Given the description of an element on the screen output the (x, y) to click on. 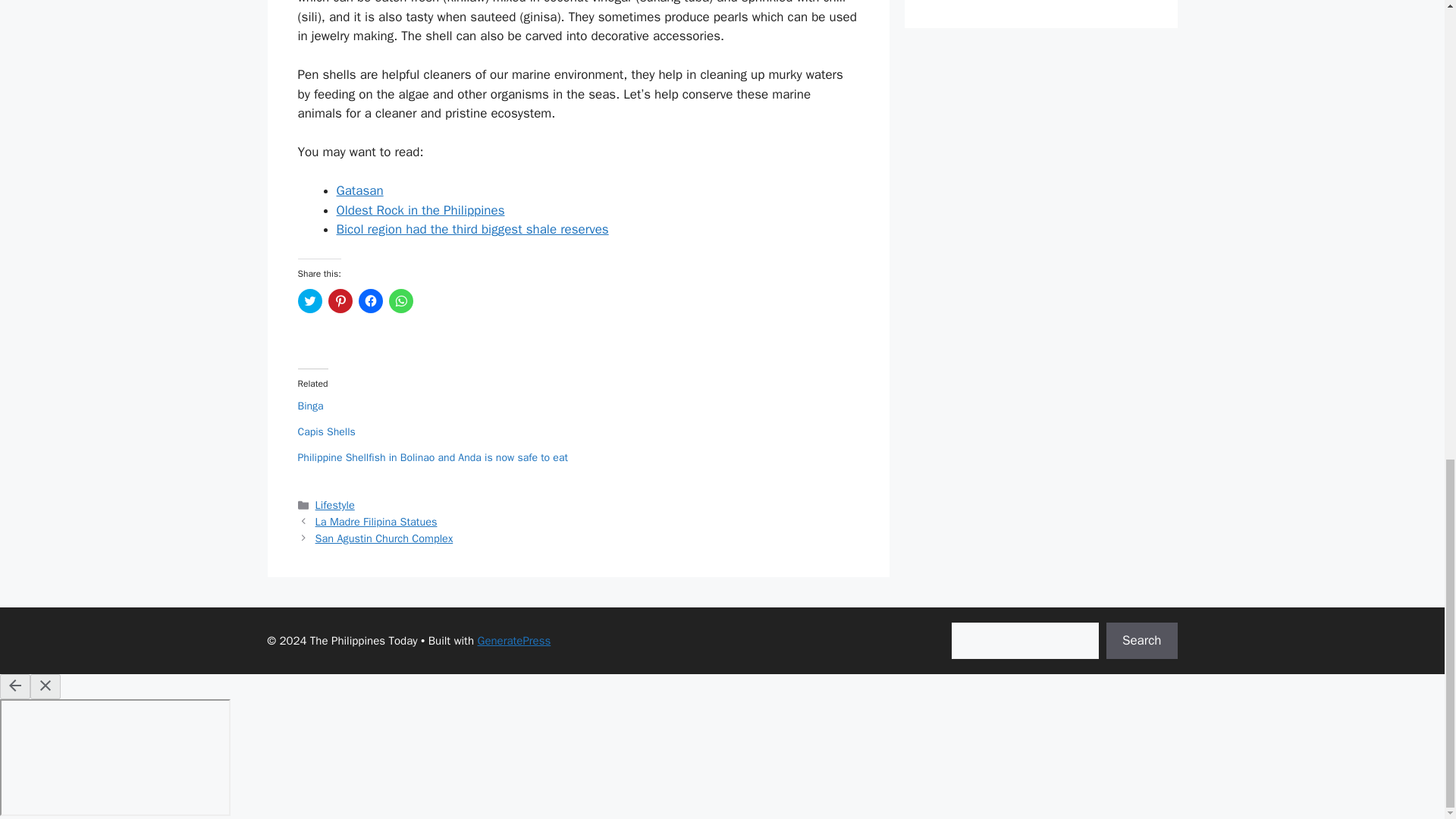
Bicol region had the third biggest shale reserves (472, 229)
Philippine Shellfish in Bolinao and Anda is now safe to eat (432, 457)
San Agustin Church Complex (383, 538)
Binga (310, 405)
Binga (310, 405)
Philippine Shellfish in Bolinao and Anda is now safe to eat (432, 457)
Click to share on Twitter (309, 300)
La Madre Filipina Statues (376, 521)
Click to share on WhatsApp (400, 300)
Lifestyle (335, 504)
